Given the description of an element on the screen output the (x, y) to click on. 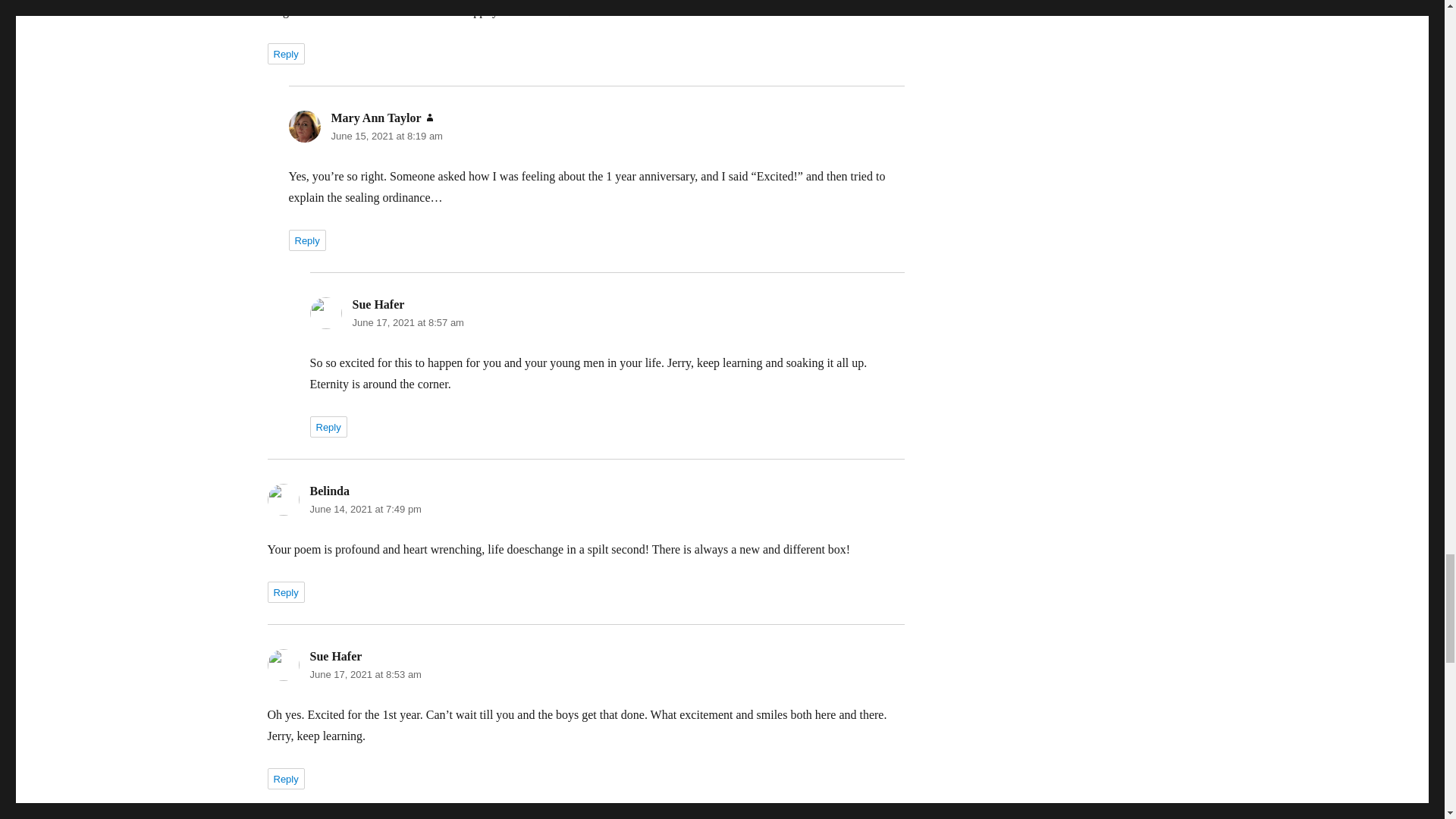
Reply (285, 53)
Reply (285, 778)
Reply (306, 240)
Reply (327, 426)
June 17, 2021 at 8:53 am (364, 674)
June 15, 2021 at 8:19 am (386, 135)
June 14, 2021 at 7:49 pm (364, 509)
Reply (285, 591)
June 17, 2021 at 8:57 am (407, 322)
